Given the description of an element on the screen output the (x, y) to click on. 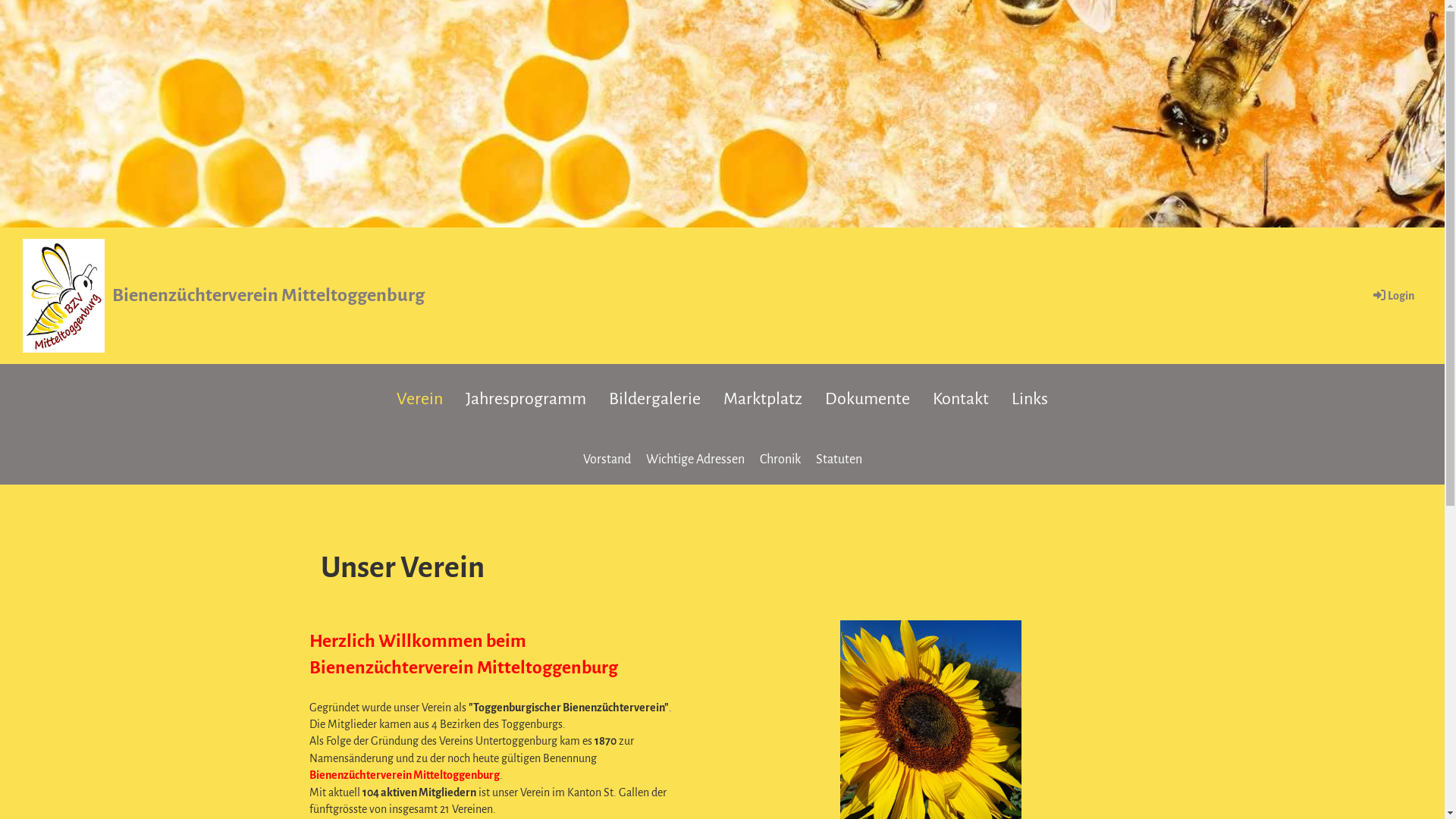
Links Element type: text (1029, 399)
Verein Element type: text (419, 399)
Bildergalerie Element type: text (654, 399)
Kontakt Element type: text (960, 399)
Dokumente Element type: text (867, 399)
Login Element type: text (1392, 295)
Chronik Element type: text (780, 459)
Marktplatz Element type: text (762, 399)
Wichtige Adressen Element type: text (695, 459)
Statuten Element type: text (838, 459)
Jahresprogramm Element type: text (525, 399)
Vorstand Element type: text (605, 459)
